Given the description of an element on the screen output the (x, y) to click on. 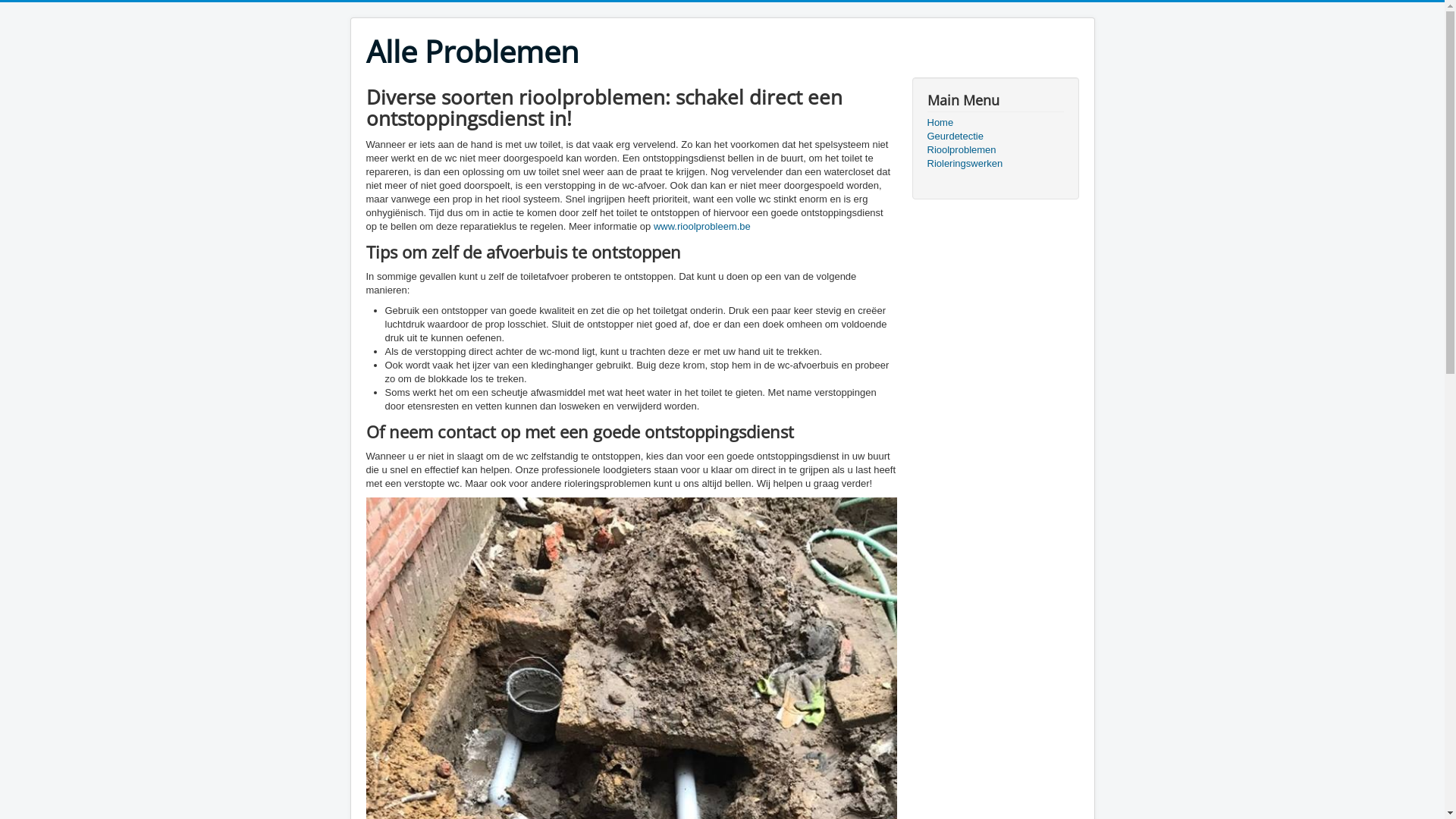
Rioolproblemen Element type: text (994, 149)
Alle Problemen Element type: text (471, 51)
Home Element type: text (994, 122)
www.rioolprobleem.be Element type: text (701, 226)
Geurdetectie Element type: text (994, 136)
Rioleringswerken Element type: text (994, 163)
